Given the description of an element on the screen output the (x, y) to click on. 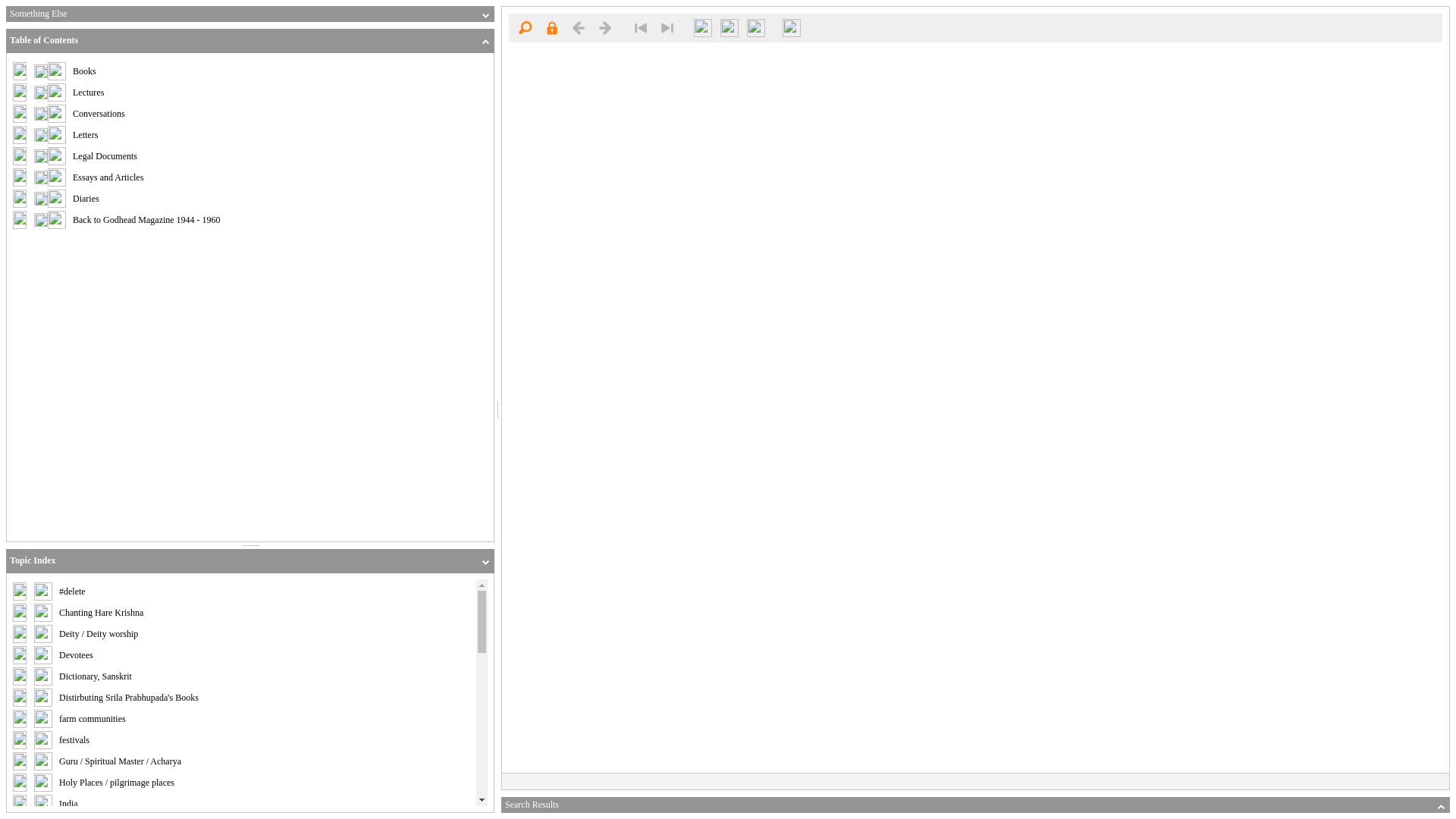
Next Document (604, 27)
Login (551, 27)
Settings (755, 27)
Help (791, 27)
Bookmark (729, 27)
Next Search Hit (666, 27)
Search (525, 27)
Highlight Text (703, 27)
Previous Document (578, 27)
Previous Search Hit (640, 27)
